Given the description of an element on the screen output the (x, y) to click on. 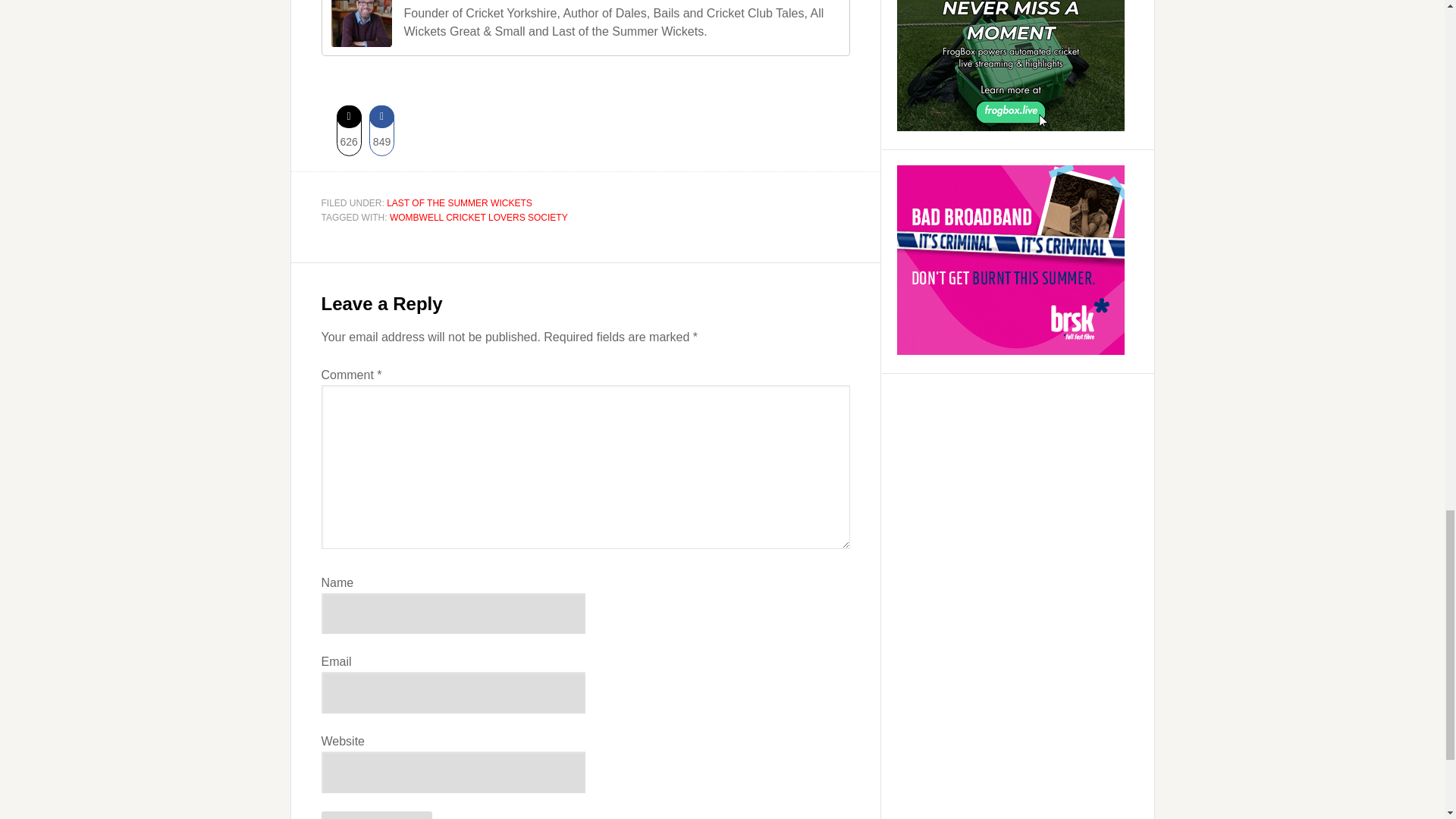
Post Comment (376, 815)
LAST OF THE SUMMER WICKETS (459, 203)
WOMBWELL CRICKET LOVERS SOCIETY (478, 217)
Post Comment (376, 815)
